Given the description of an element on the screen output the (x, y) to click on. 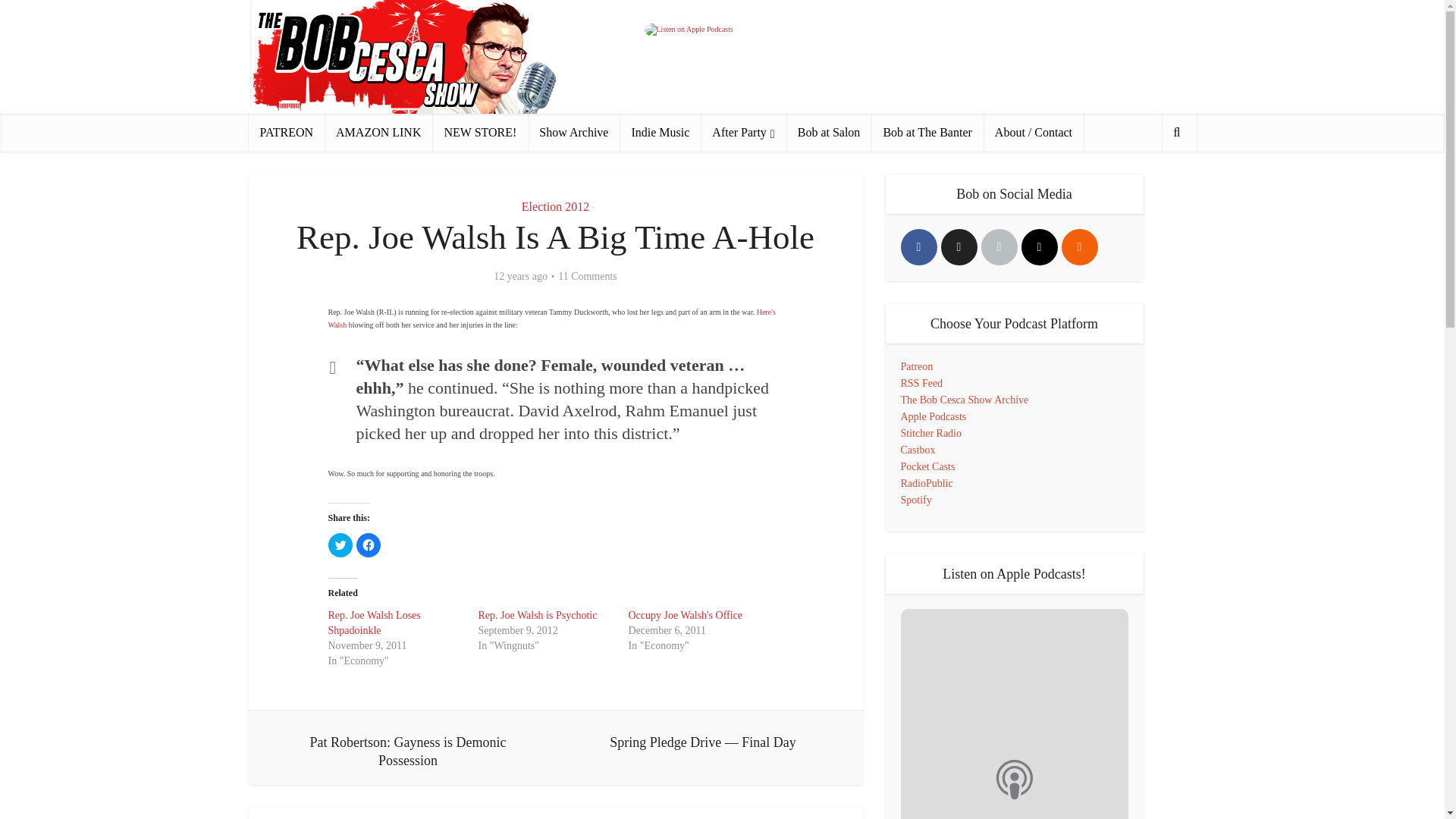
NEW STORE! (479, 132)
Patreon (917, 366)
RSS Feed (922, 383)
Apple Podcasts (933, 416)
Indie Music (660, 132)
Election 2012 (555, 205)
Apple (999, 247)
After Party (743, 132)
Occupy Joe Walsh's Office (684, 614)
Pat Robertson: Gayness is Demonic Possession (408, 747)
